Given the description of an element on the screen output the (x, y) to click on. 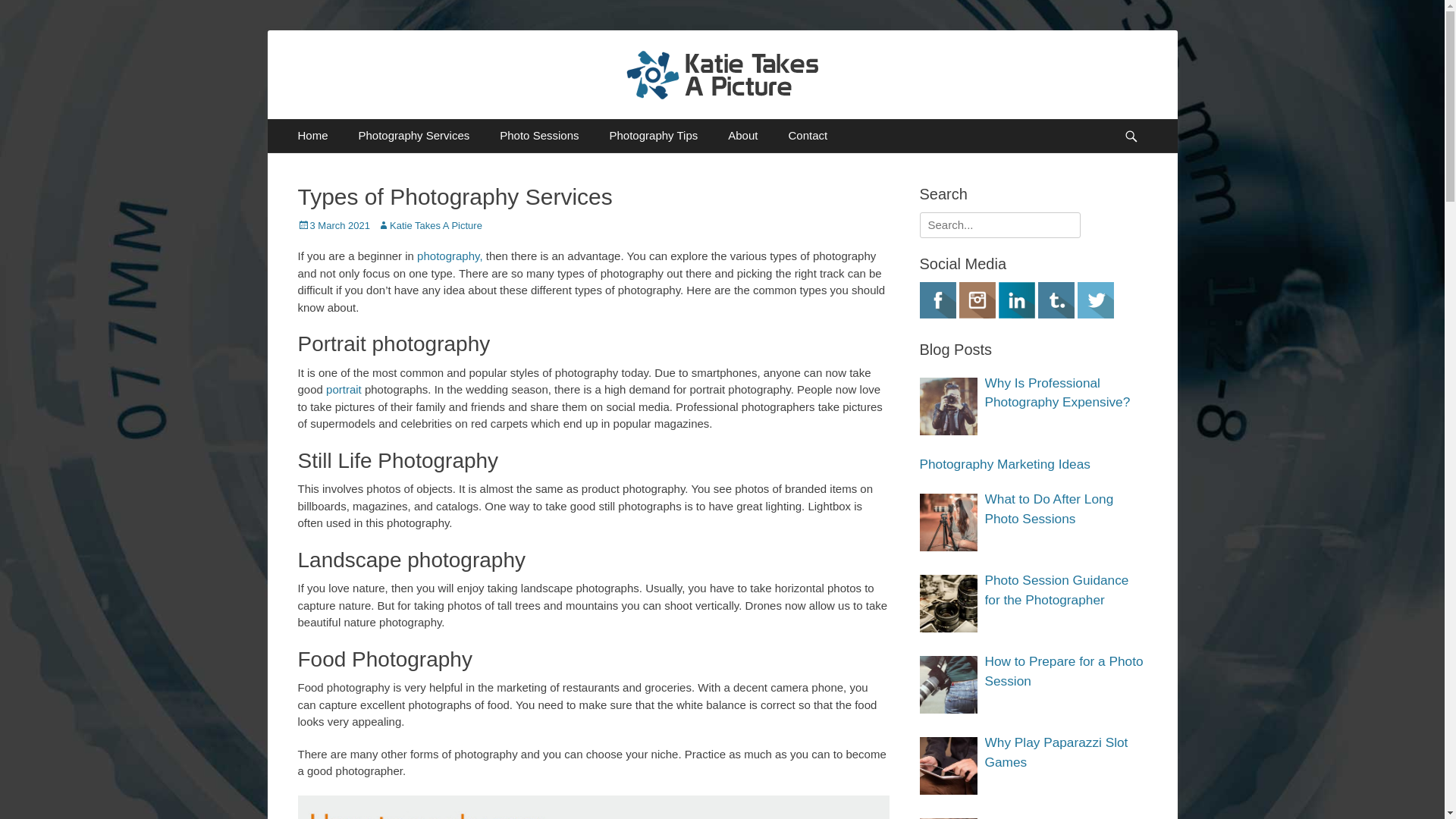
photography, Element type: text (449, 255)
Katie Takes A Picture Element type: text (439, 67)
Search Element type: text (24, 9)
What to Do After Long Photo Sessions Element type: hover (947, 522)
Why Play Paparazzi Slot Games Element type: text (1065, 752)
How to Prepare for a Photo Session Element type: hover (947, 684)
Photography Tips Element type: text (653, 135)
Search for: Element type: hover (999, 225)
Photography Services Element type: text (414, 135)
What to Do After Long Photo Sessions Element type: text (1065, 509)
Why Is Professional Photography Expensive? Element type: text (1065, 392)
Why Play Paparazzi Slot Games Element type: hover (947, 765)
About Element type: text (742, 135)
3 March 2021 Element type: text (333, 225)
Photo Session Guidance for the Photographer Element type: text (1065, 590)
Katie Takes A Picture Element type: text (429, 225)
Home Element type: text (312, 135)
Photography Marketing Ideas Element type: text (1032, 464)
Why Is Professional Photography Expensive? Element type: hover (947, 406)
Photo Session Guidance for the Photographer Element type: hover (947, 603)
Search Element type: text (1137, 119)
How to Prepare for a Photo Session Element type: text (1065, 671)
Contact Element type: text (807, 135)
Photo Sessions Element type: text (538, 135)
portrait Element type: text (343, 388)
